Given the description of an element on the screen output the (x, y) to click on. 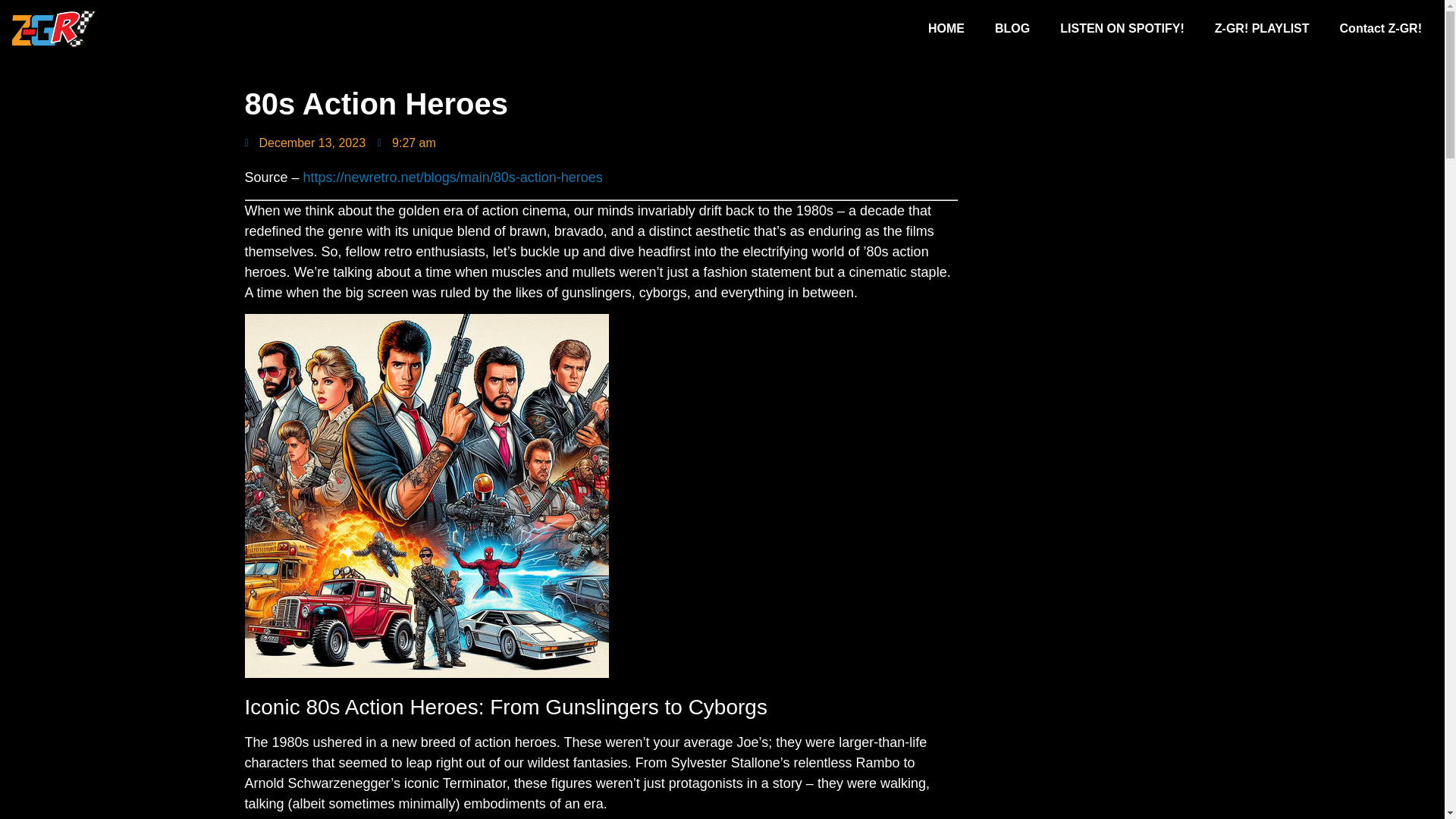
Contact Z-GR! (1380, 28)
BLOG (1012, 28)
HOME (945, 28)
Z-GR! PLAYLIST (1261, 28)
December 13, 2023 (304, 143)
LISTEN ON SPOTIFY! (1122, 28)
